Given the description of an element on the screen output the (x, y) to click on. 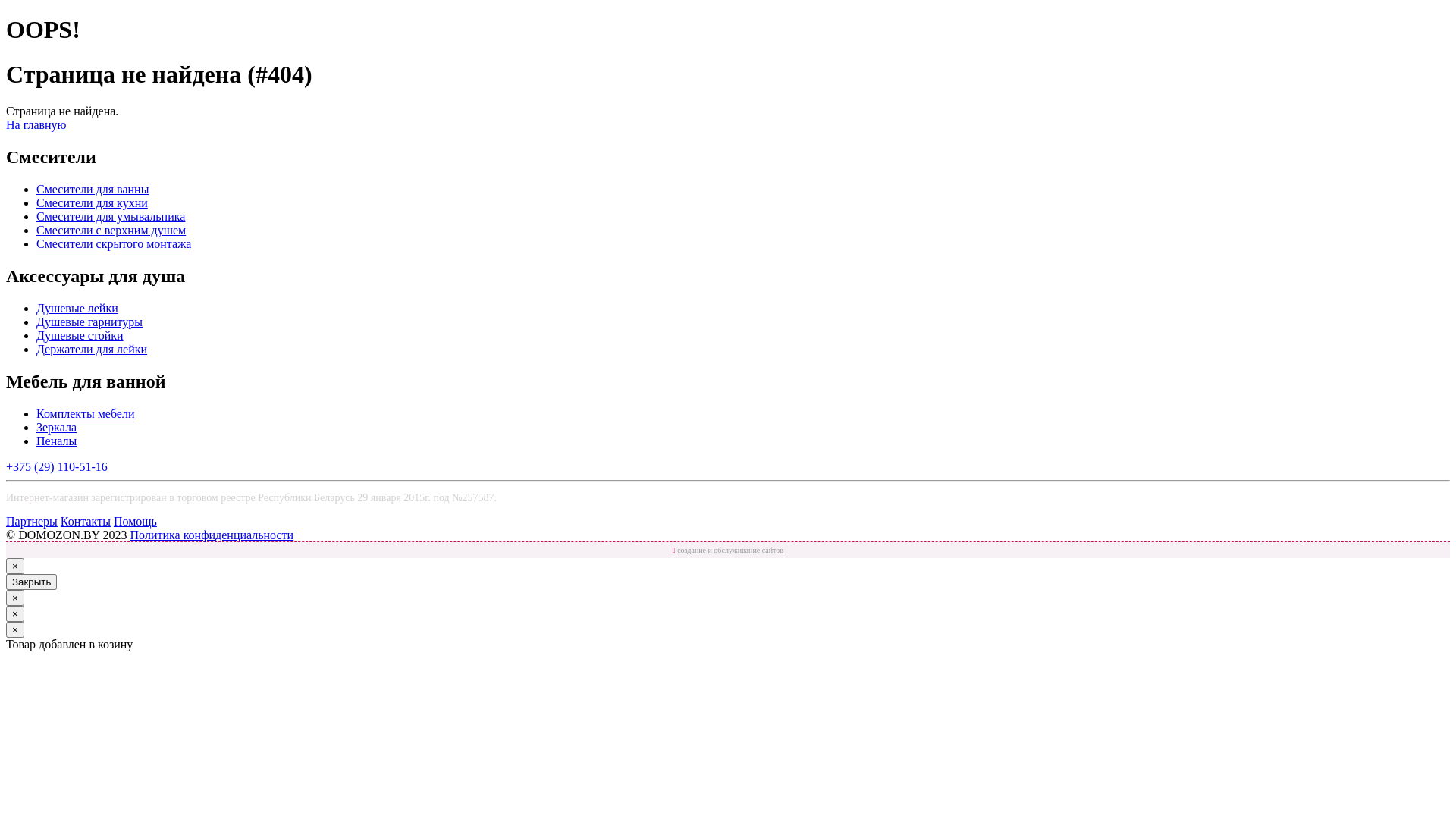
+375 (29) 110-51-16 Element type: text (56, 466)
